Given the description of an element on the screen output the (x, y) to click on. 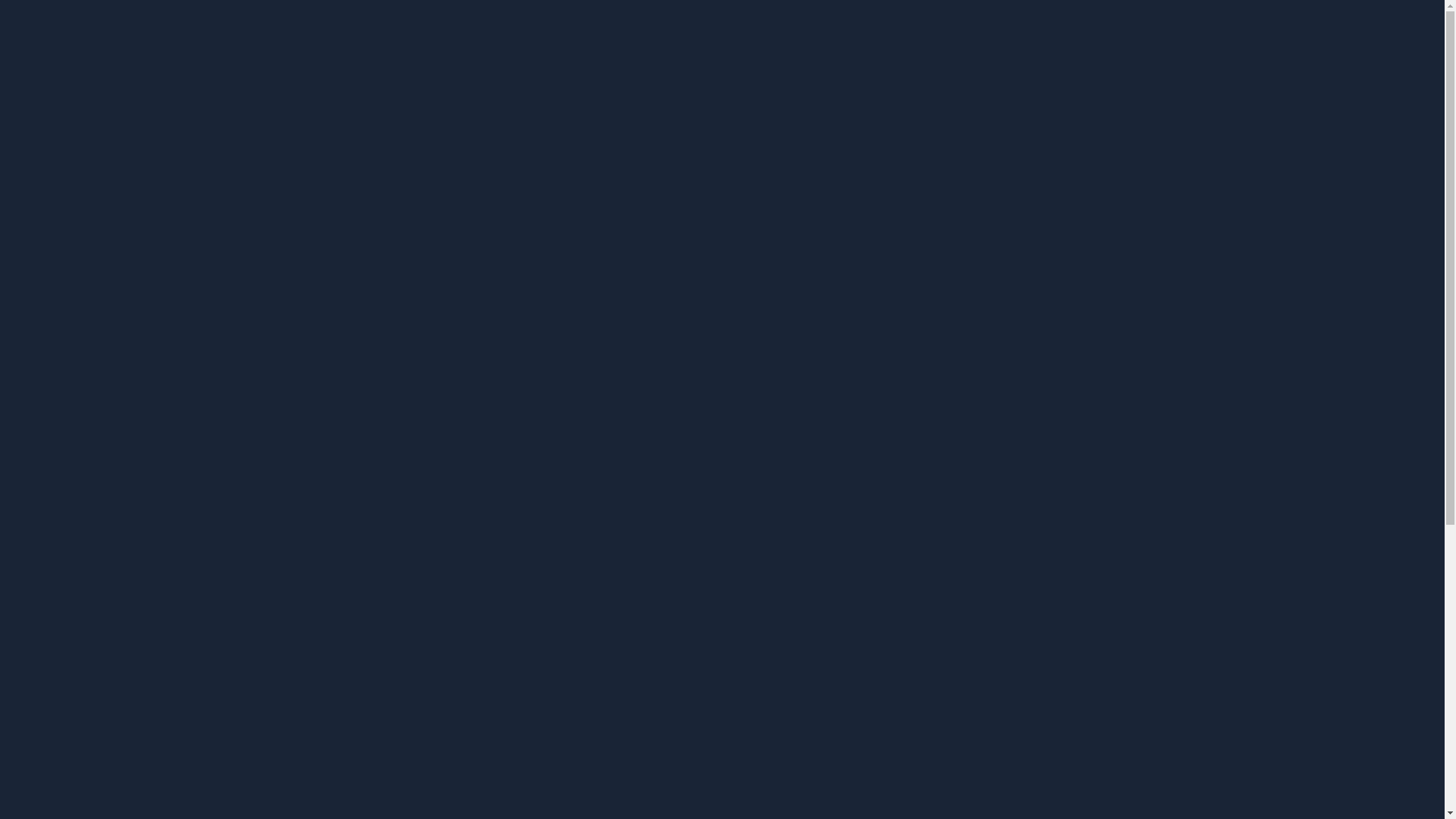
Envoyer Element type: text (32, 607)
